Given the description of an element on the screen output the (x, y) to click on. 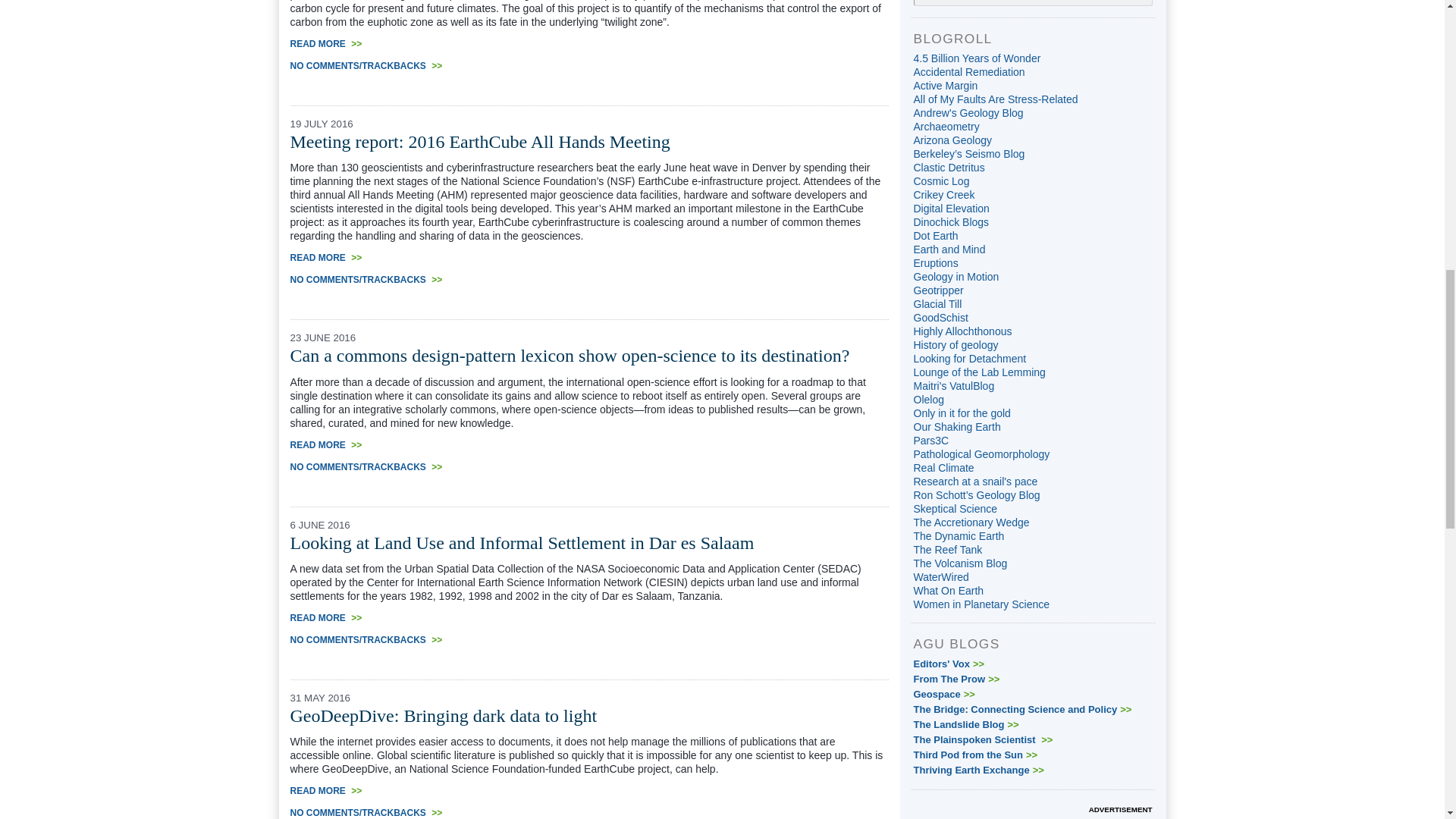
Looking at Land Use and Informal Settlement in Dar es Salaam (521, 542)
GeoDeepDive: Bringing dark data to light (442, 715)
Permanent Link to GeoDeepDive: Bringing dark data to light (442, 715)
Meeting report: 2016 EarthCube All Hands Meeting (479, 141)
